Given the description of an element on the screen output the (x, y) to click on. 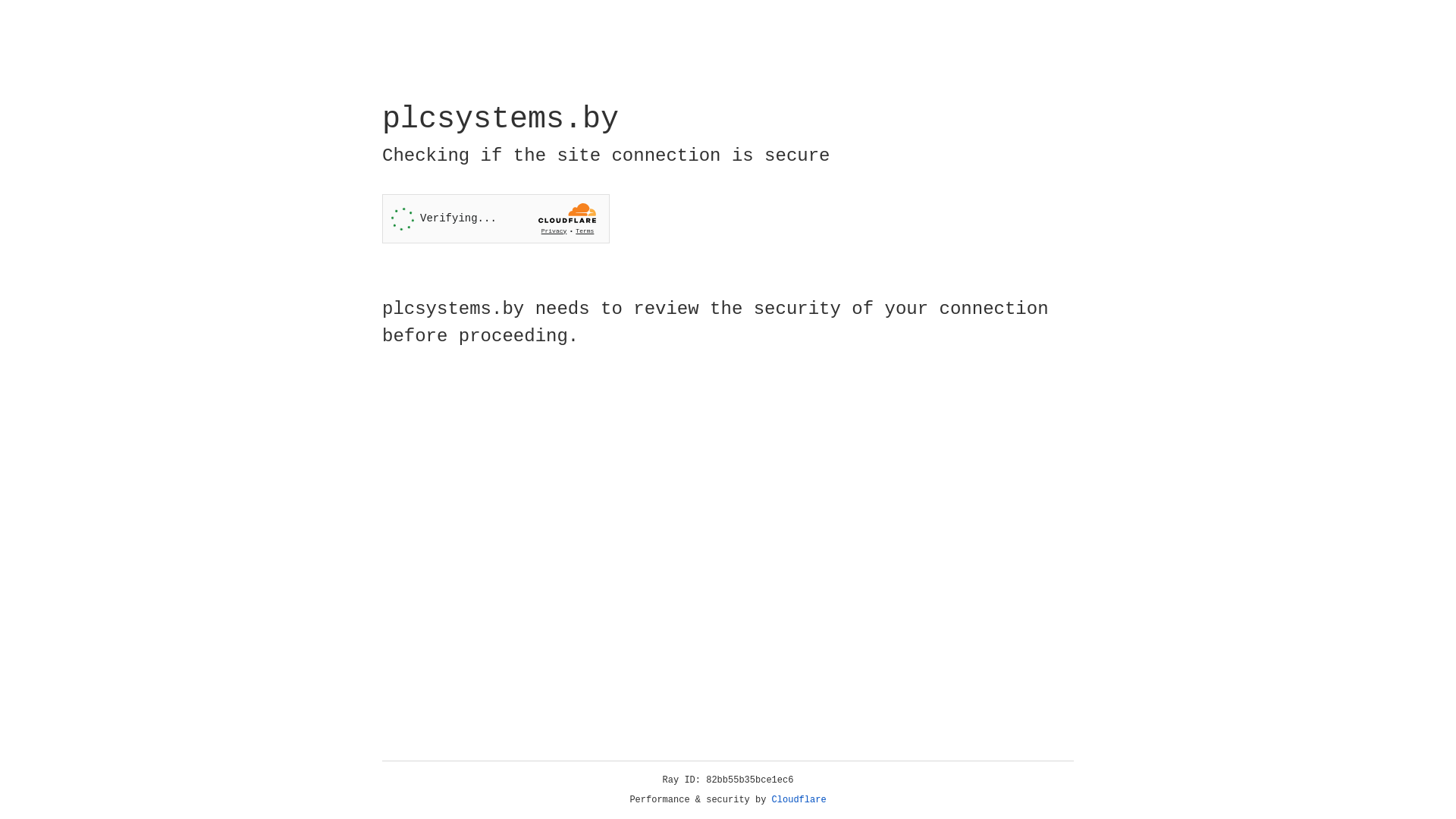
Cloudflare Element type: text (798, 799)
Widget containing a Cloudflare security challenge Element type: hover (495, 218)
